Given the description of an element on the screen output the (x, y) to click on. 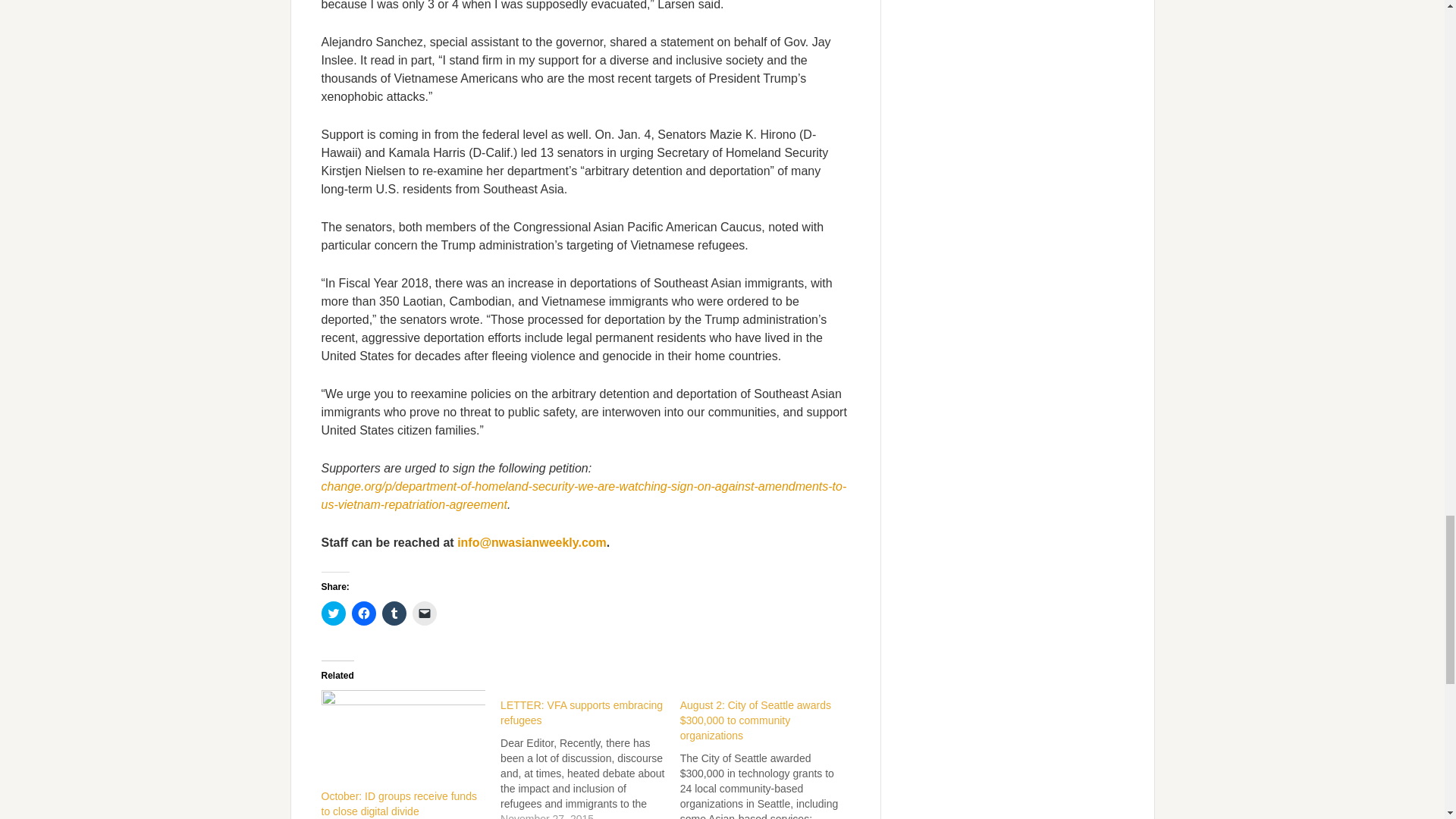
Click to share on Twitter (333, 613)
Click to share on Tumblr (393, 613)
Click to share on Facebook (363, 613)
October: ID groups receive funds to close digital divide (399, 803)
LETTER: VFA supports embracing refugees (581, 712)
October: ID groups receive funds to close digital divide (403, 736)
Click to email a link to a friend (424, 613)
LETTER: VFA supports embracing refugees (589, 754)
